Given the description of an element on the screen output the (x, y) to click on. 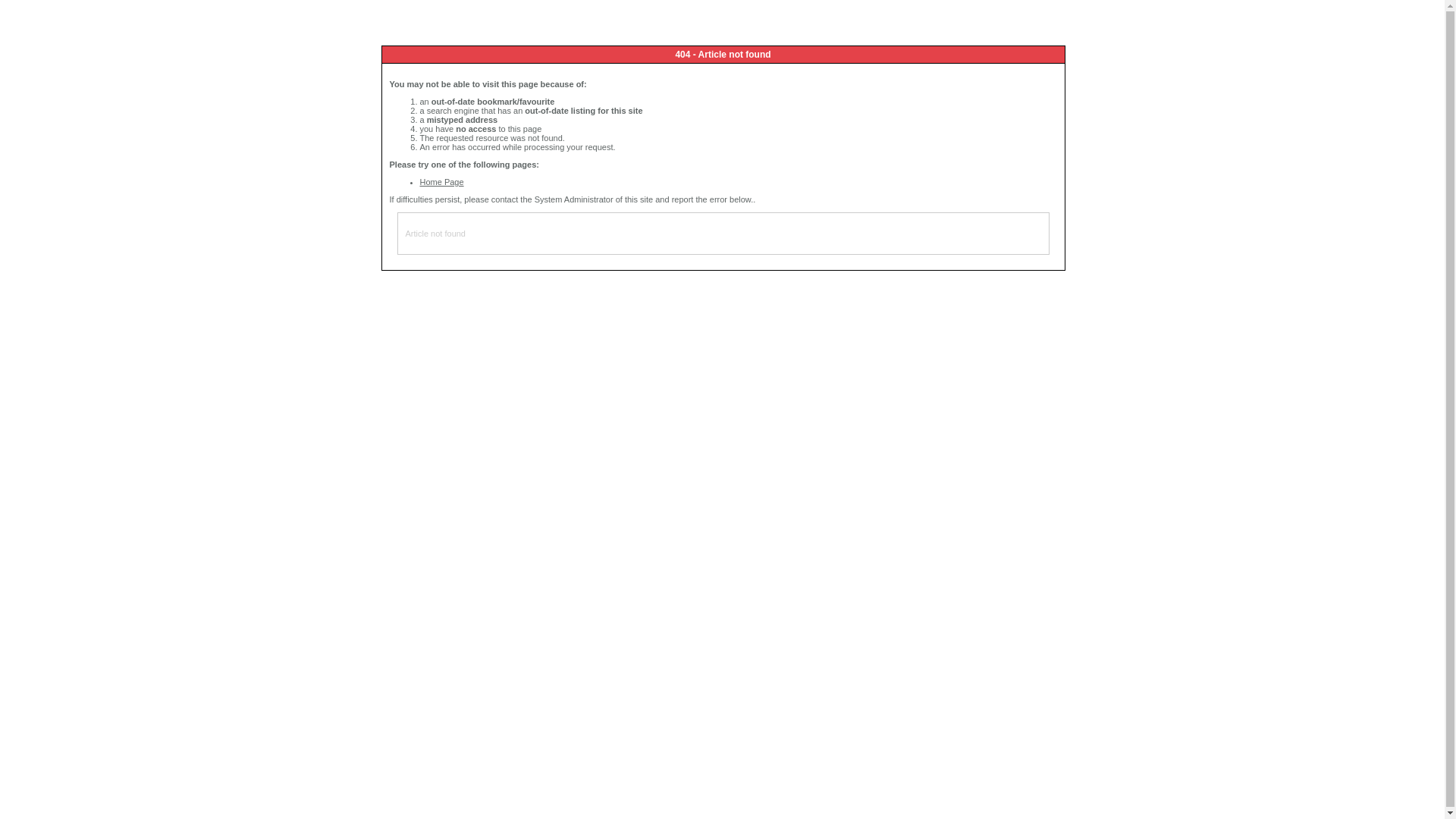
Home Page Element type: text (442, 181)
